Given the description of an element on the screen output the (x, y) to click on. 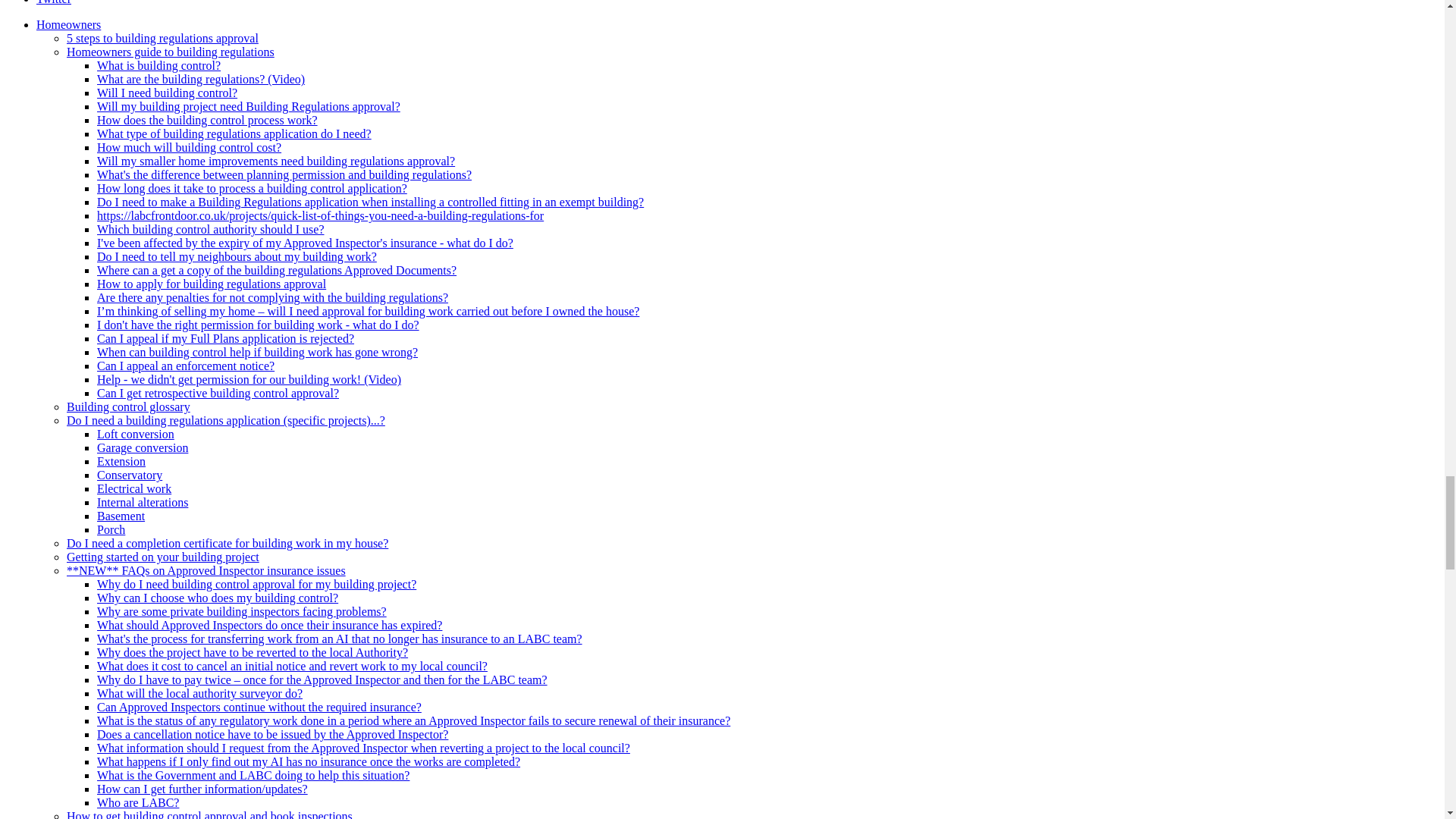
Twitter (53, 2)
Get building regs help for your building project (68, 24)
